Given the description of an element on the screen output the (x, y) to click on. 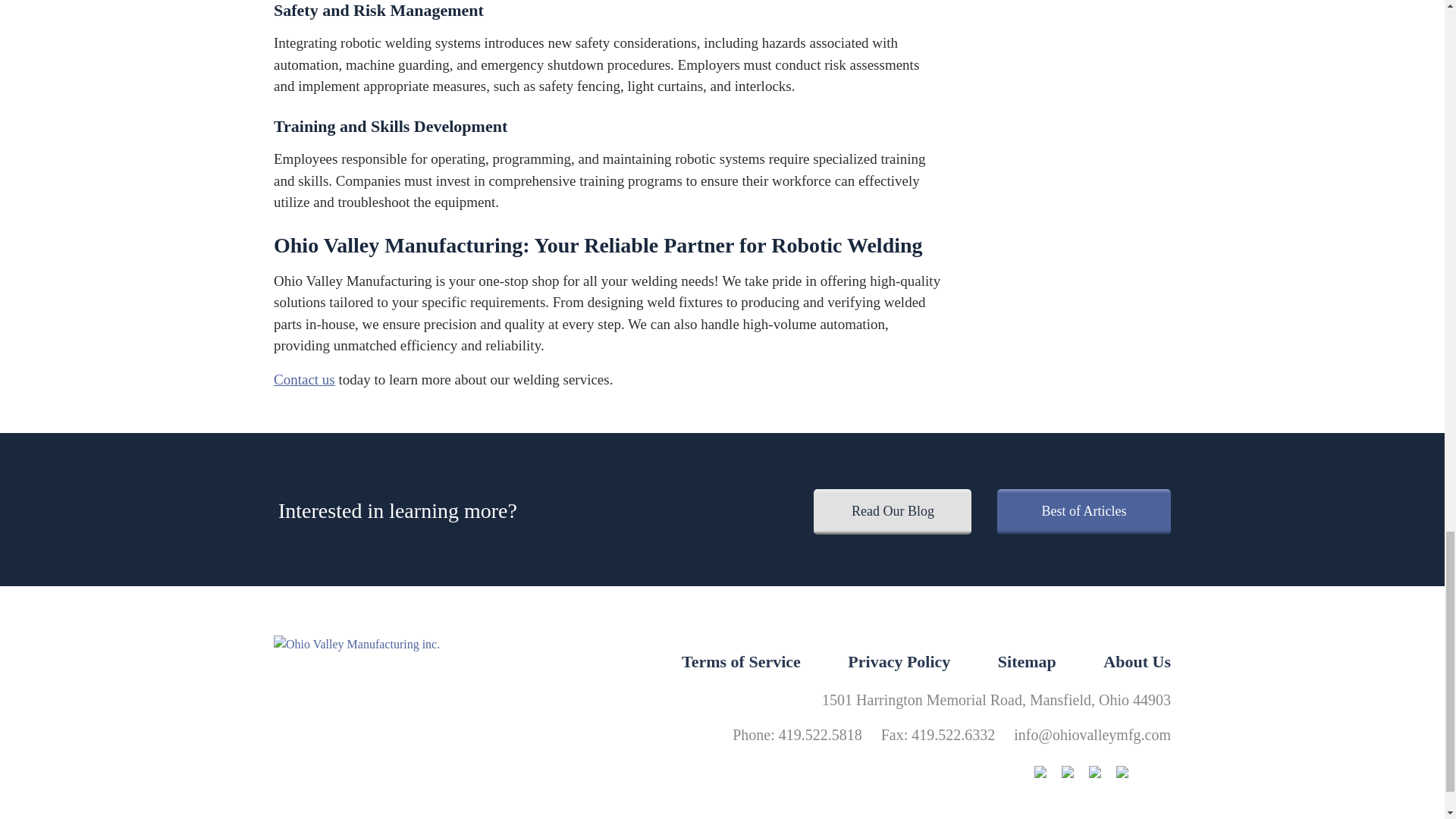
Instagram (1047, 773)
Facebook (1075, 773)
LinkedIn (1102, 773)
YouTube (1129, 773)
